Given the description of an element on the screen output the (x, y) to click on. 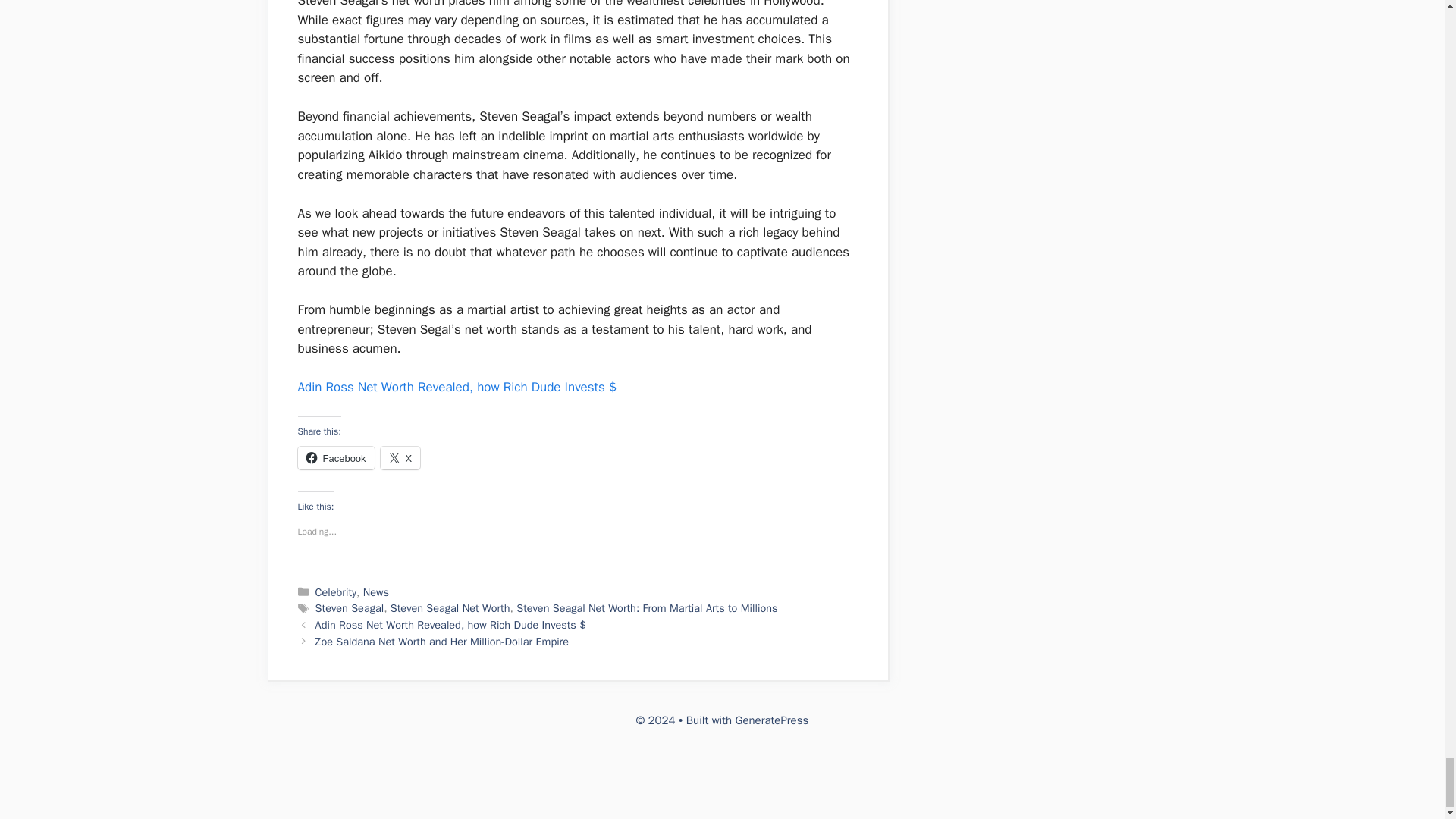
Facebook (335, 457)
Click to share on X (400, 457)
X (400, 457)
Click to share on Facebook (335, 457)
